Given the description of an element on the screen output the (x, y) to click on. 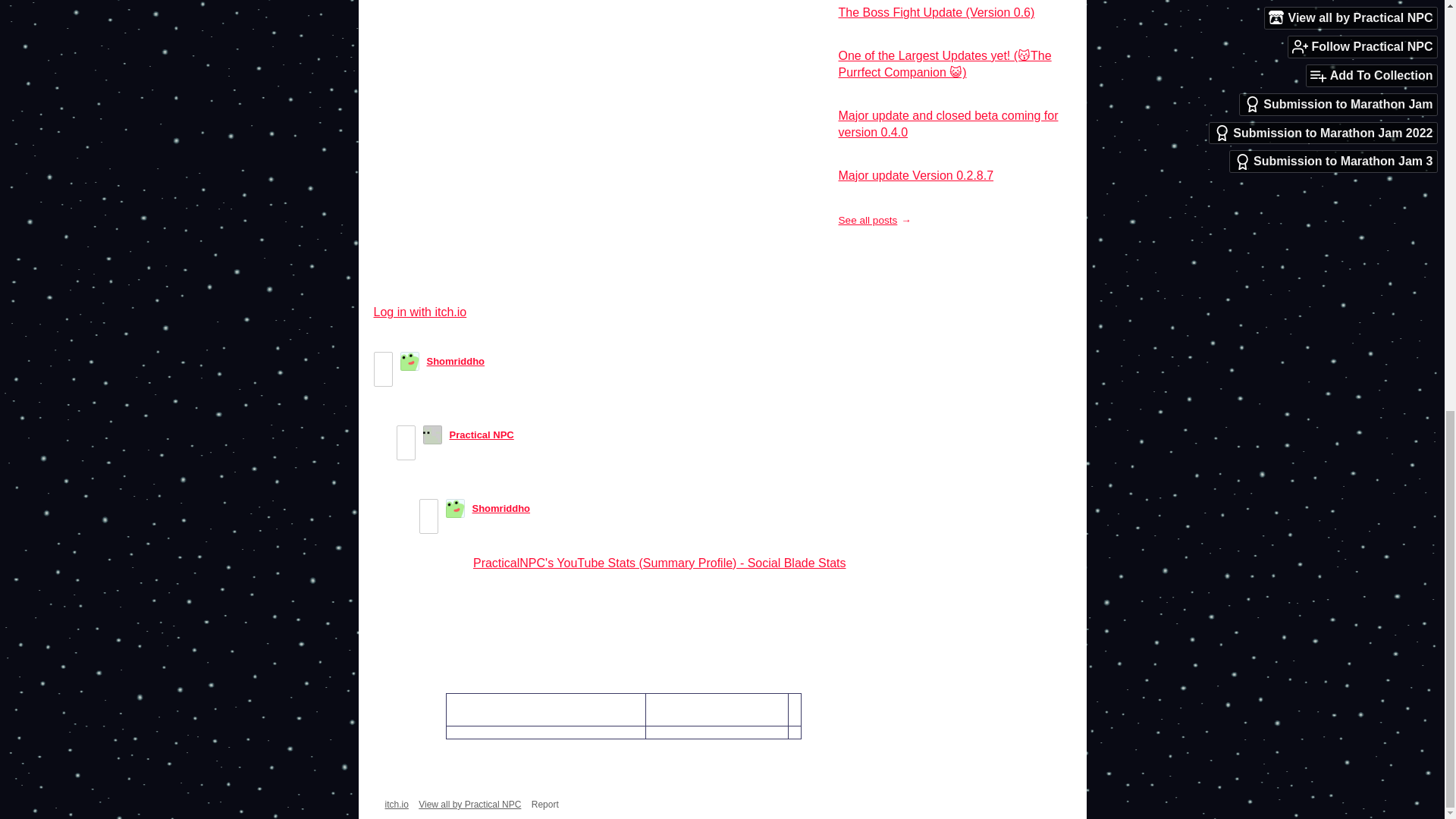
Major update Version 0.2.8.7 (916, 174)
Log in with itch.io (418, 311)
See all posts (874, 220)
Major update and closed beta coming for version 0.4.0 (948, 123)
